Given the description of an element on the screen output the (x, y) to click on. 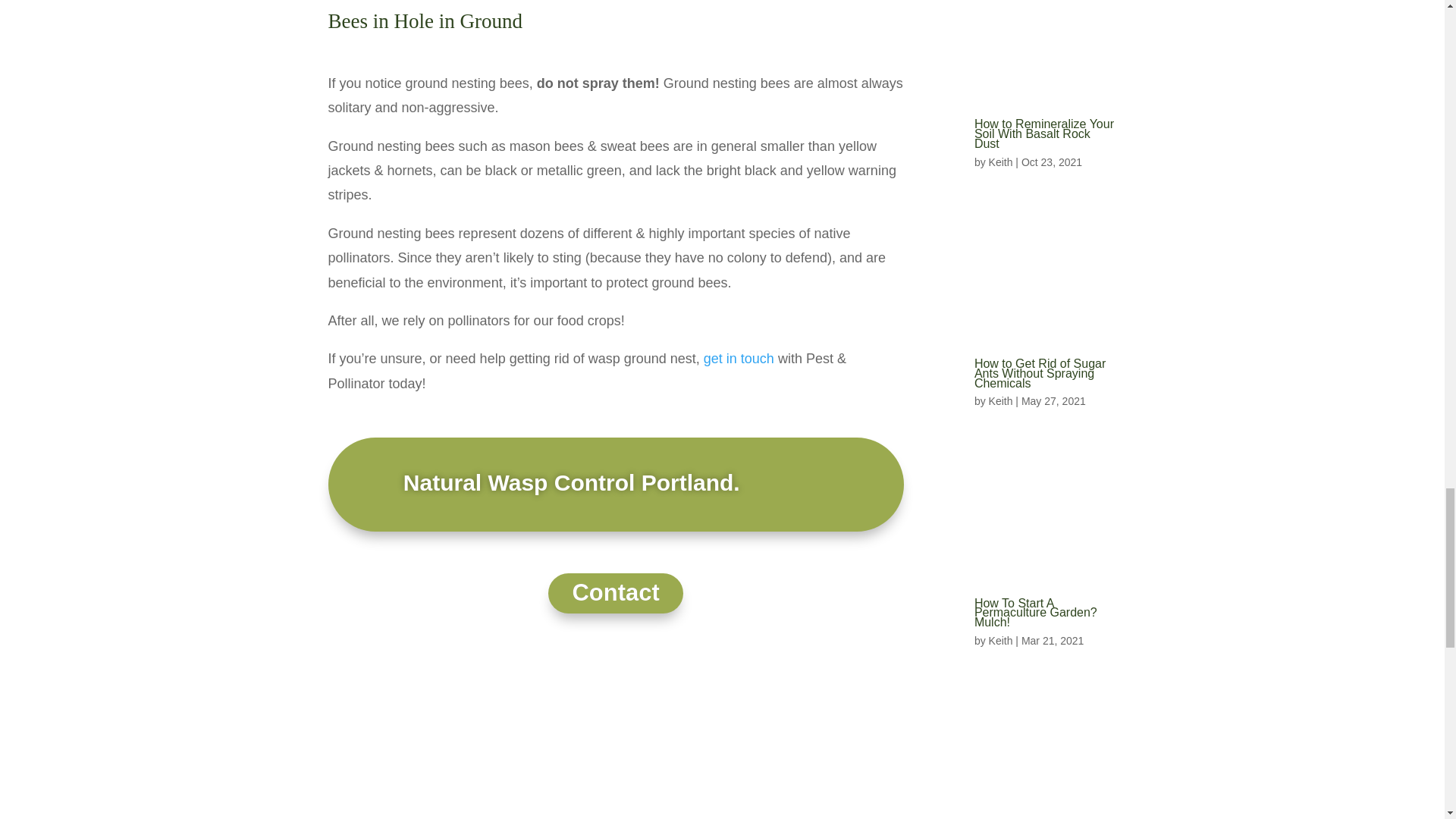
get in touch (738, 358)
Posts by Keith (1000, 162)
Posts by Keith (1000, 640)
Posts by Keith (1000, 400)
Contact (615, 593)
